Given the description of an element on the screen output the (x, y) to click on. 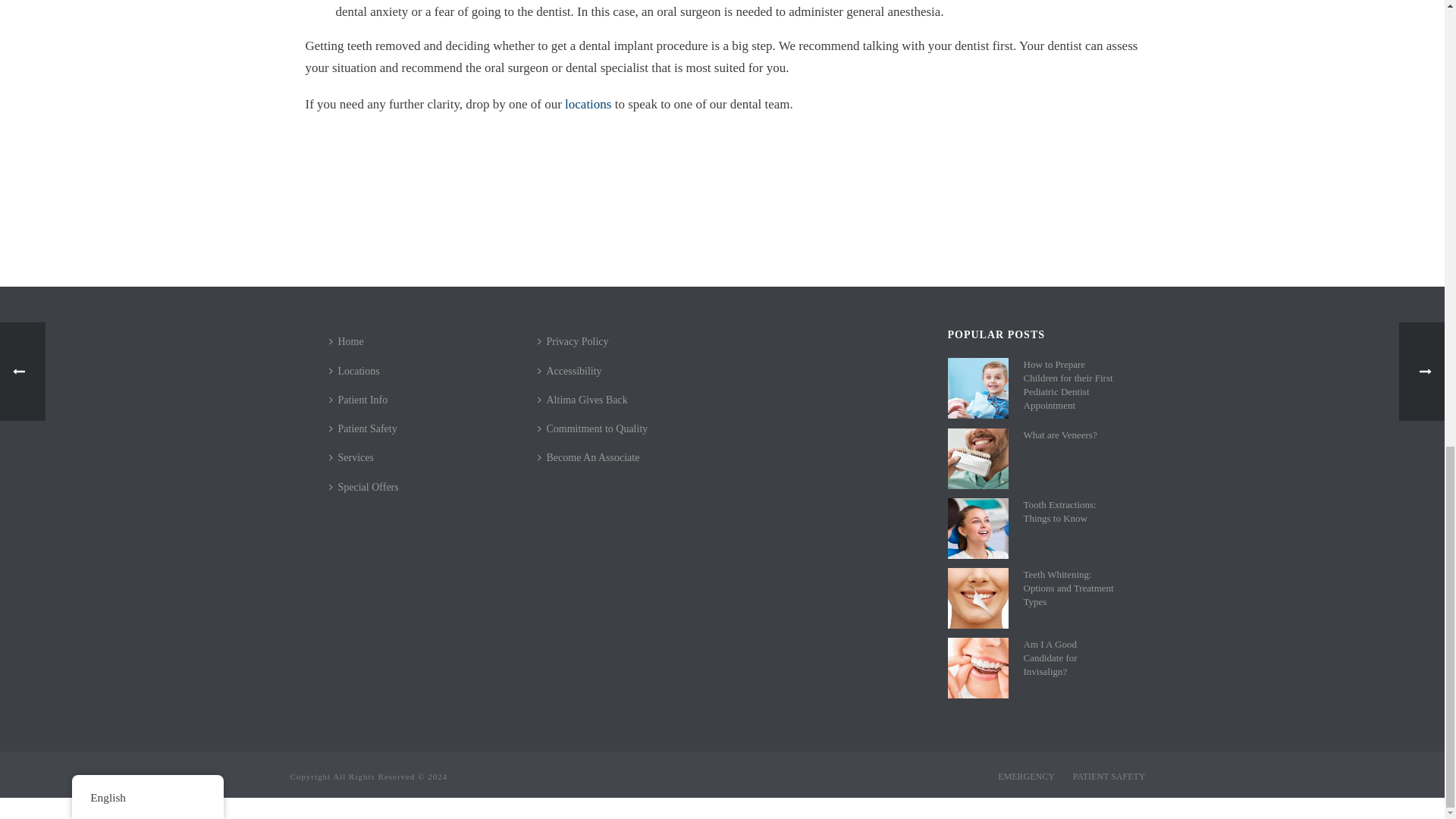
What are Veneers? (978, 458)
Tooth Extractions: Things to Know (978, 527)
Teeth Whitening: Options and Treatment Types (978, 598)
Am I A Good Candidate for Invisalign? (978, 668)
